Given the description of an element on the screen output the (x, y) to click on. 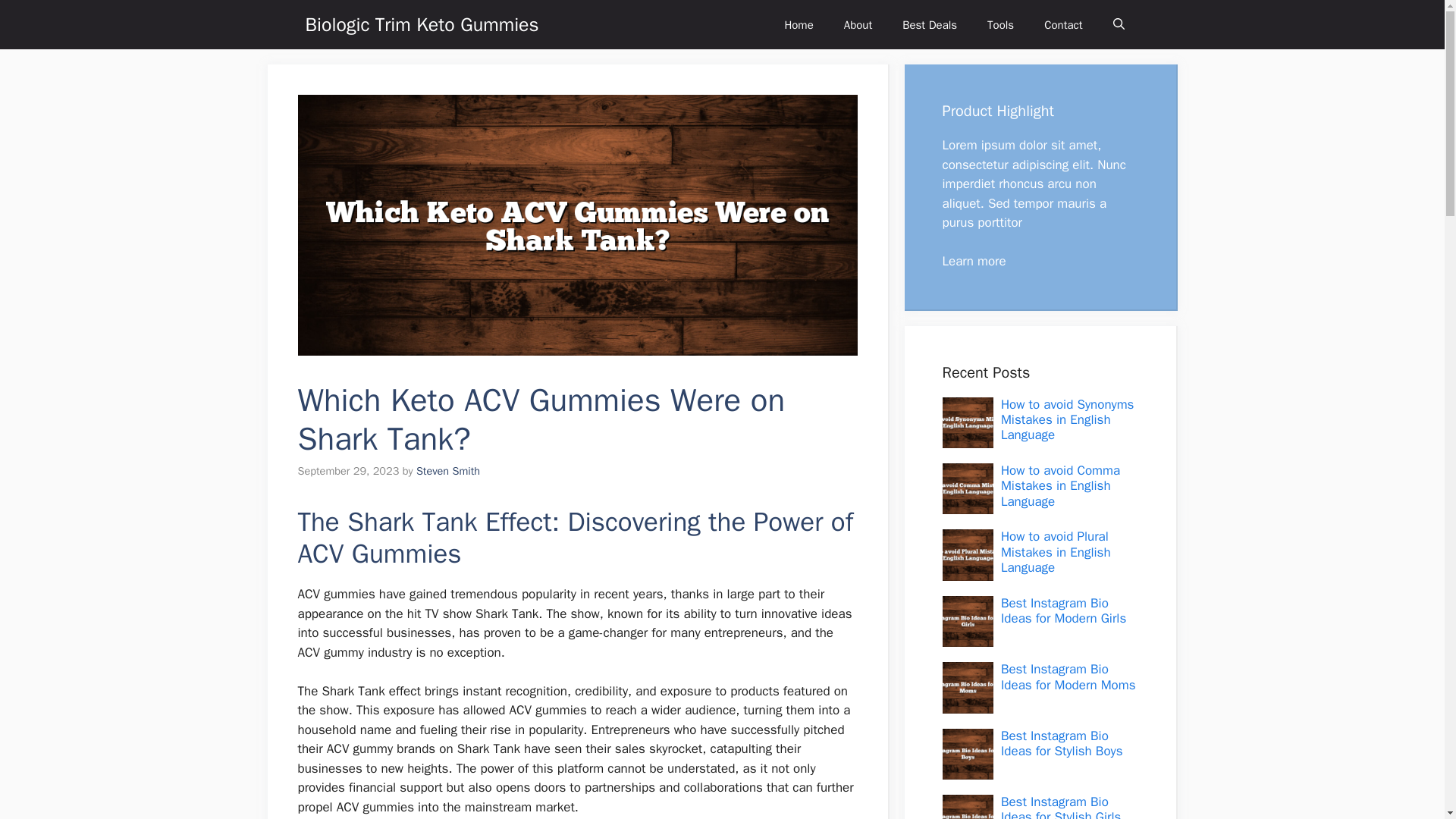
Biologic Trim Keto Gummies (421, 24)
Best Instagram Bio Ideas for Stylish Girls (1061, 806)
View all posts by Steven Smith (448, 470)
Contact (1063, 23)
Best Instagram Bio Ideas for Modern Girls (1063, 610)
About (857, 23)
Steven Smith (448, 470)
How to avoid Plural Mistakes in English Language (1055, 551)
Best Instagram Bio Ideas for Stylish Boys (1061, 743)
Tools (1000, 23)
